Given the description of an element on the screen output the (x, y) to click on. 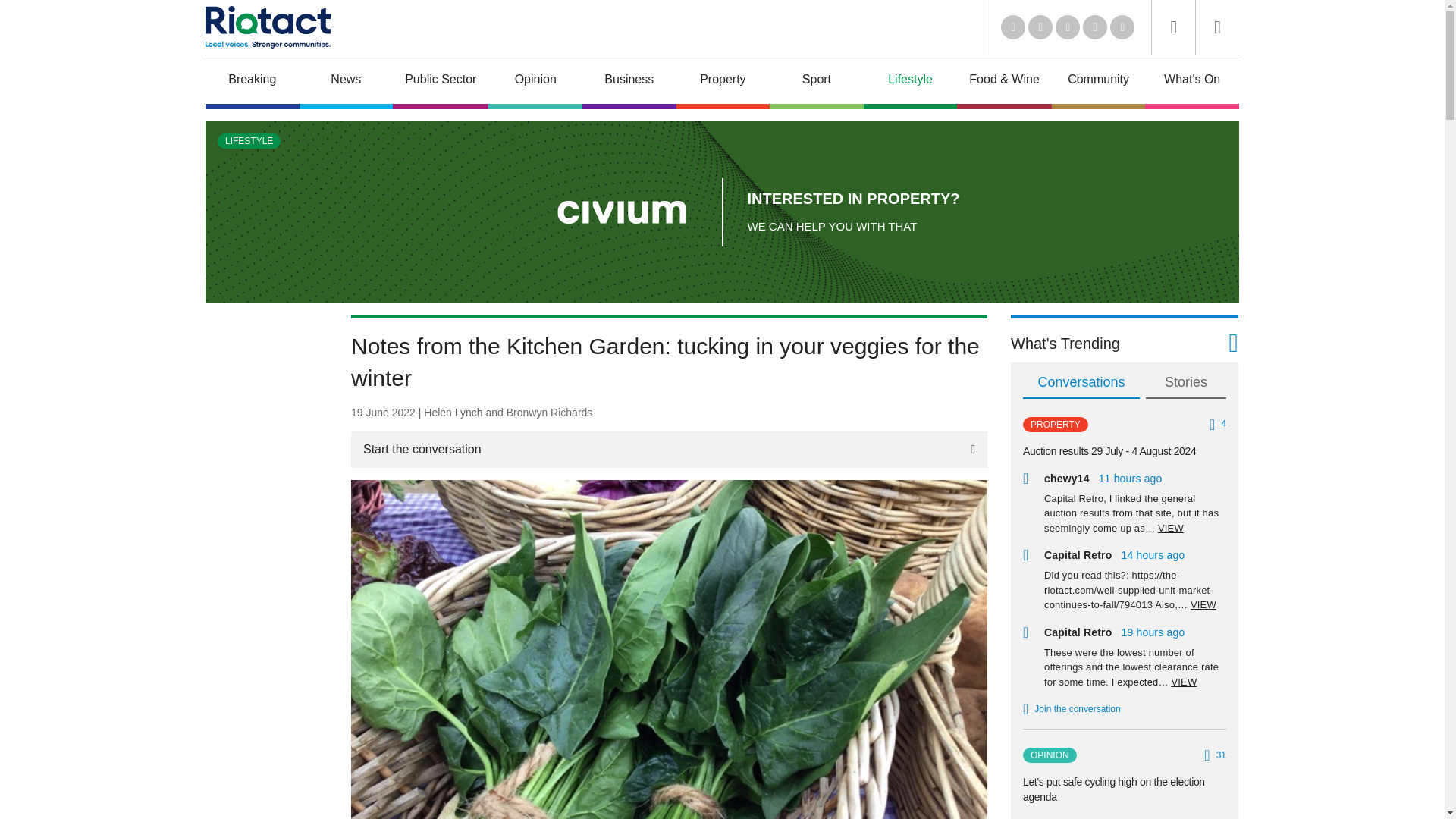
News (346, 81)
Twitter (1039, 27)
Facebook (1094, 27)
LinkedIn (1013, 27)
Breaking (252, 81)
Riotact Home (267, 26)
Youtube (1067, 27)
Instagram (1121, 27)
